Given the description of an element on the screen output the (x, y) to click on. 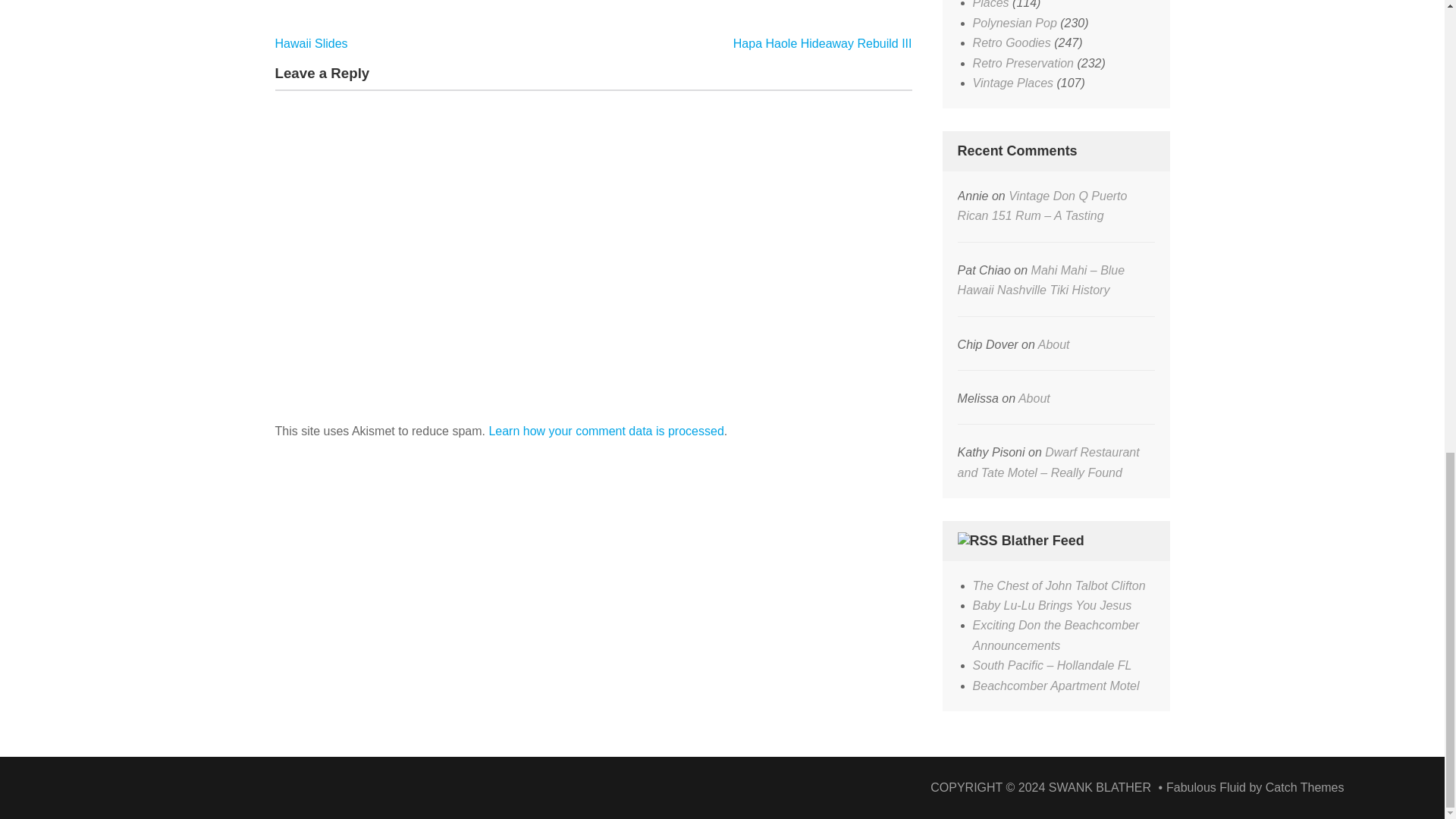
Learn how your comment data is processed (605, 431)
Hapa Haole Hideaway Rebuild III (822, 42)
Hawaii Slides (311, 42)
